Given the description of an element on the screen output the (x, y) to click on. 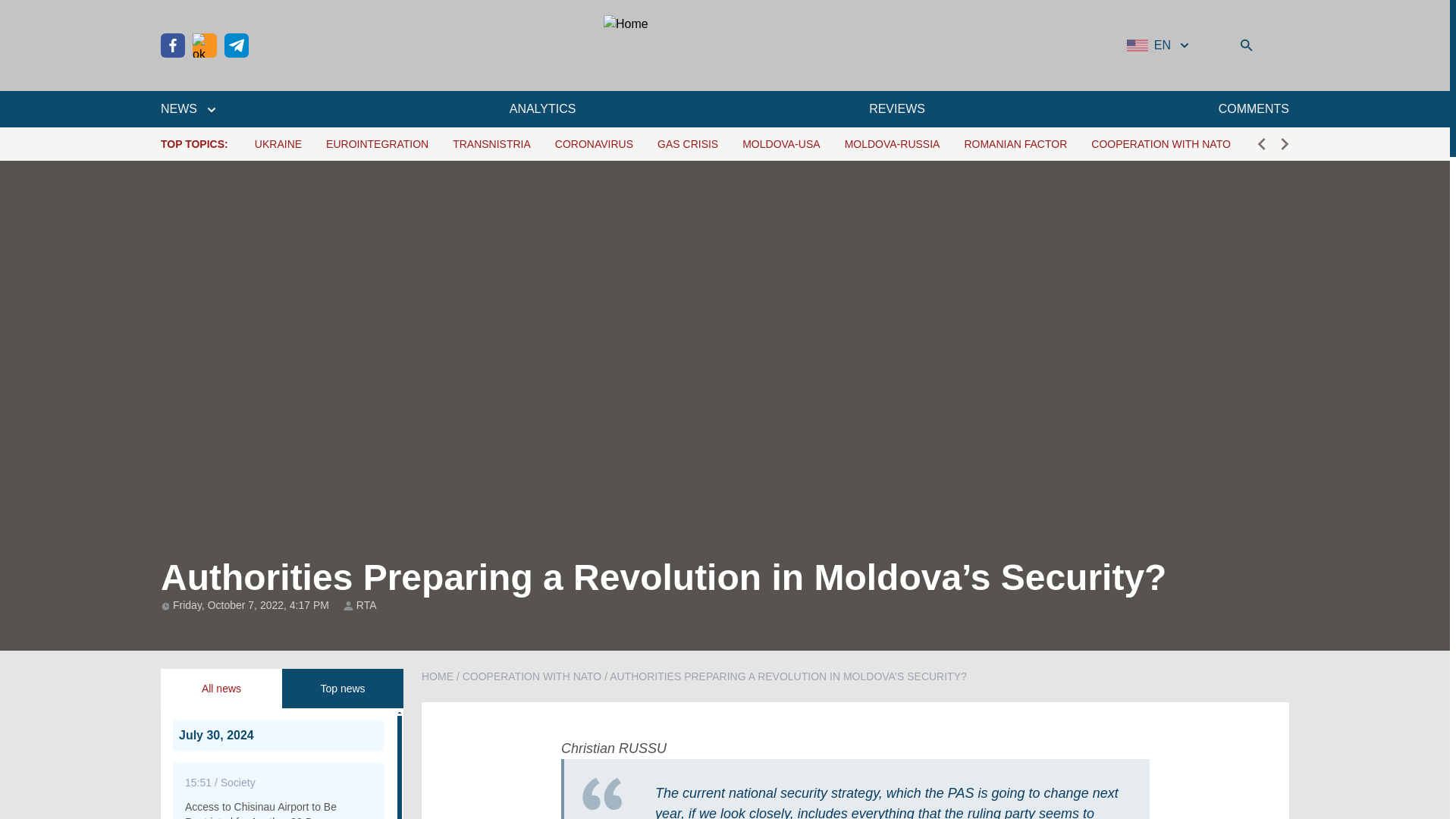
NEWS (187, 108)
COOPERATION WITH NATO (1160, 143)
All news (221, 688)
ANALYTICS (542, 108)
MOLDOVA-RUSSIA (892, 143)
CORONAVIRUS (593, 143)
Top news (342, 688)
ROMANIAN FACTOR (1015, 143)
EUROINTEGRATION (377, 143)
RTA (366, 604)
REVIEWS (896, 108)
TRANSNISTRIA (491, 143)
Friday, October 7, 2022, 4:17 PM (252, 604)
COMMENTS (1253, 108)
